Given the description of an element on the screen output the (x, y) to click on. 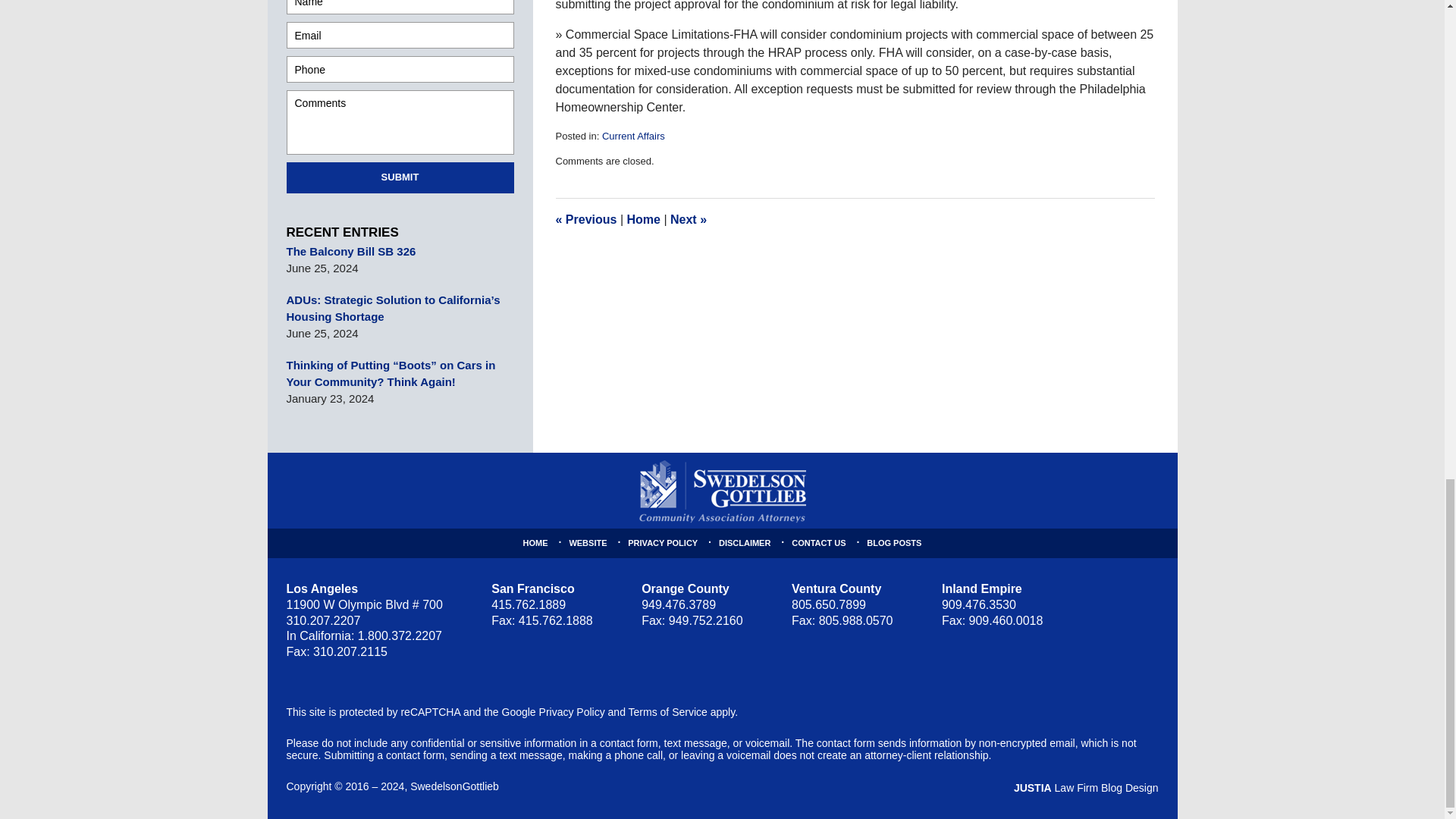
Home (642, 219)
View all posts in Current Affairs (633, 135)
Current Affairs (633, 135)
What the Heck is a Default Judgment? (687, 219)
What You Need to Know About Small Claims Court (584, 219)
